Given the description of an element on the screen output the (x, y) to click on. 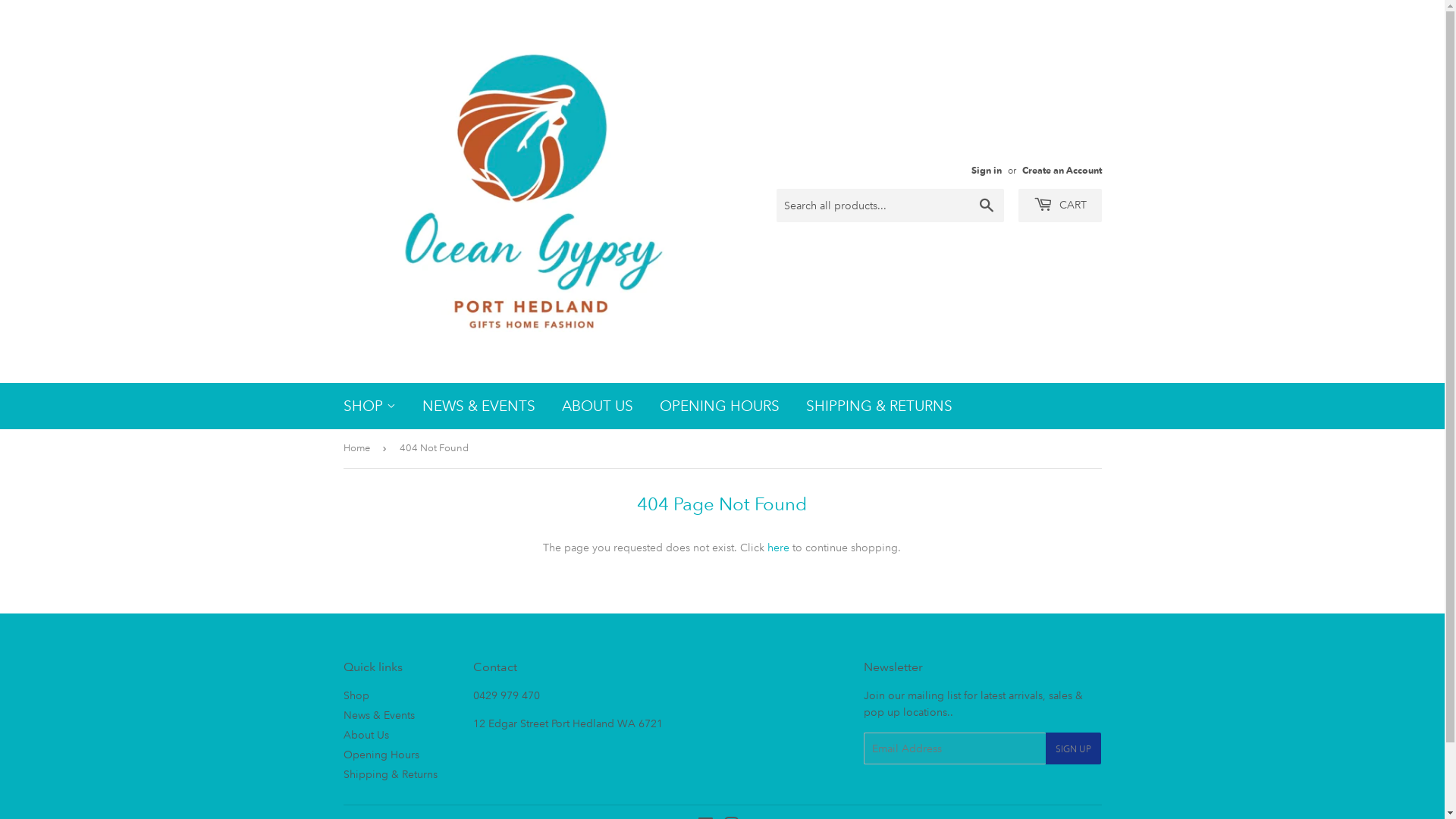
Shipping & Returns Element type: text (389, 774)
Shop Element type: text (355, 695)
Sign in Element type: text (985, 169)
SHIPPING & RETURNS Element type: text (878, 405)
Opening Hours Element type: text (380, 754)
Create an Account Element type: text (1061, 169)
SHOP Element type: text (369, 405)
NEWS & EVENTS Element type: text (478, 405)
About Us Element type: text (365, 734)
here Element type: text (778, 547)
News & Events Element type: text (378, 714)
SIGN UP Element type: text (1073, 748)
ABOUT US Element type: text (597, 405)
Home Element type: text (358, 448)
OPENING HOURS Element type: text (718, 405)
CART Element type: text (1059, 205)
Search Element type: text (986, 206)
